Given the description of an element on the screen output the (x, y) to click on. 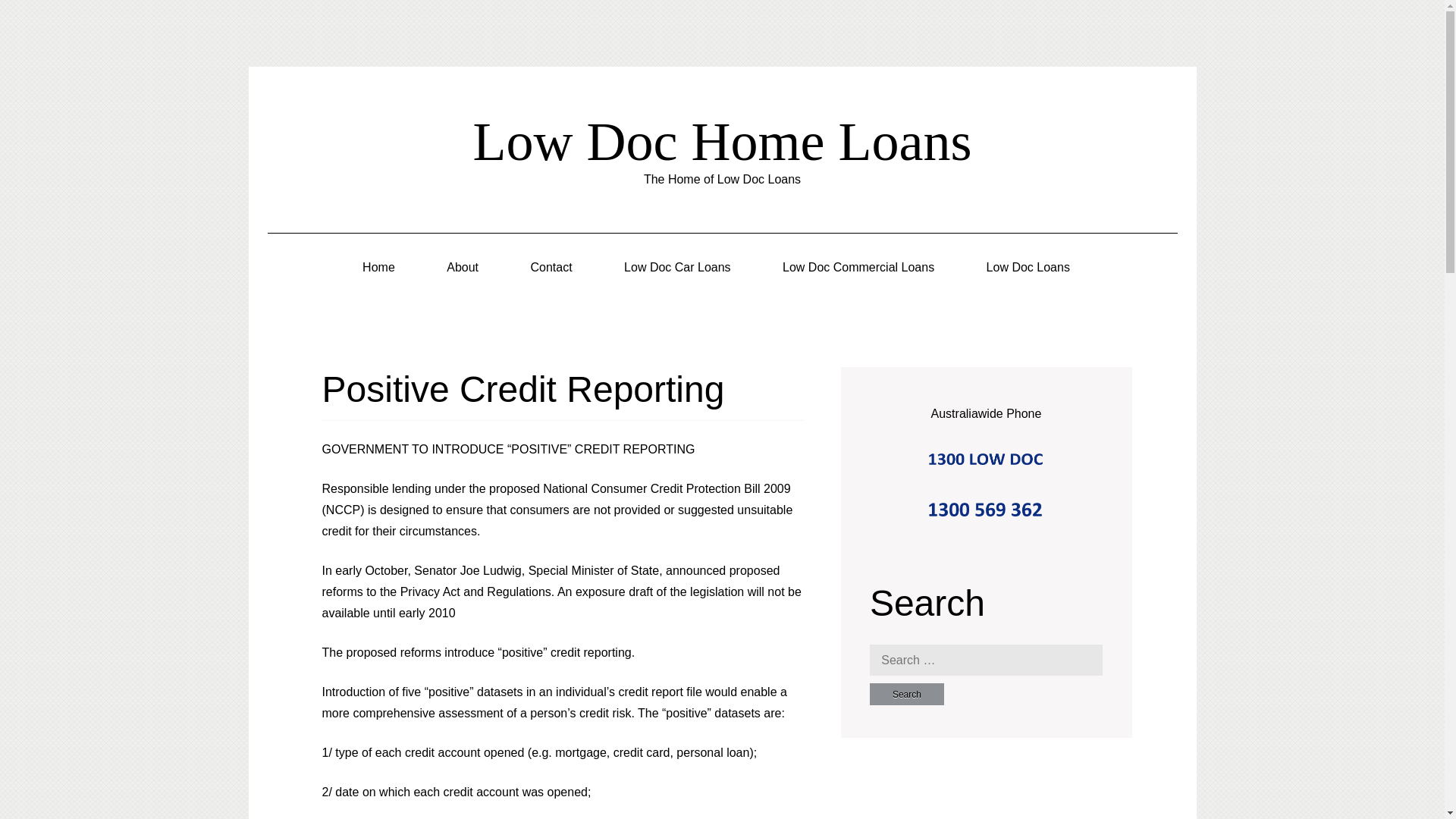
Search (906, 694)
Low Doc Commercial Loans (858, 267)
Low Doc Car Loans (677, 267)
Low Doc Loans (1028, 267)
Low Doc Home Loans (722, 141)
Contact (551, 267)
Search for: (985, 659)
Low Doc Home Loans (722, 141)
Search (906, 694)
Home (378, 267)
Search (906, 694)
About (462, 267)
